Given the description of an element on the screen output the (x, y) to click on. 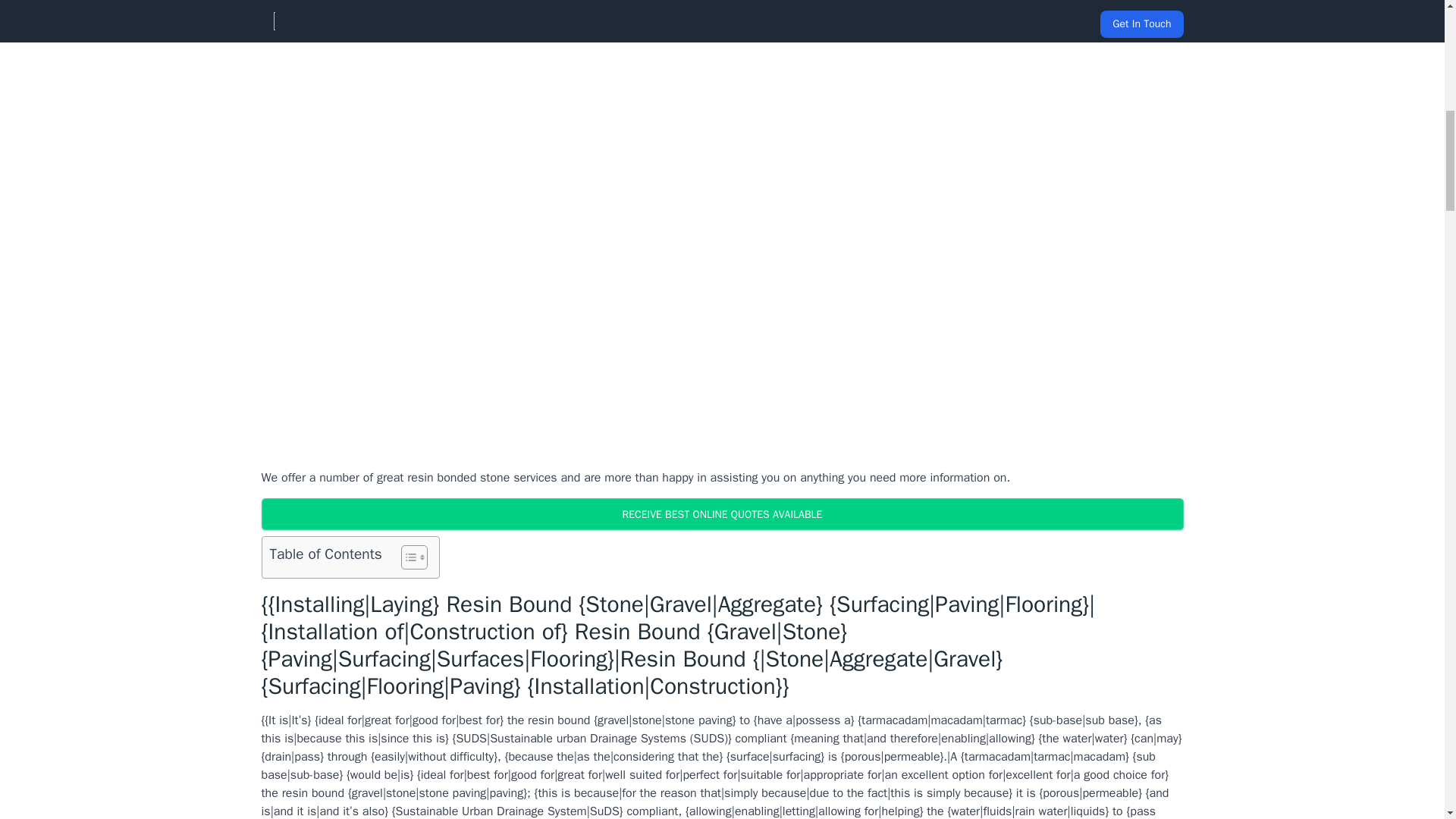
RECEIVE BEST ONLINE QUOTES AVAILABLE (721, 513)
